Given the description of an element on the screen output the (x, y) to click on. 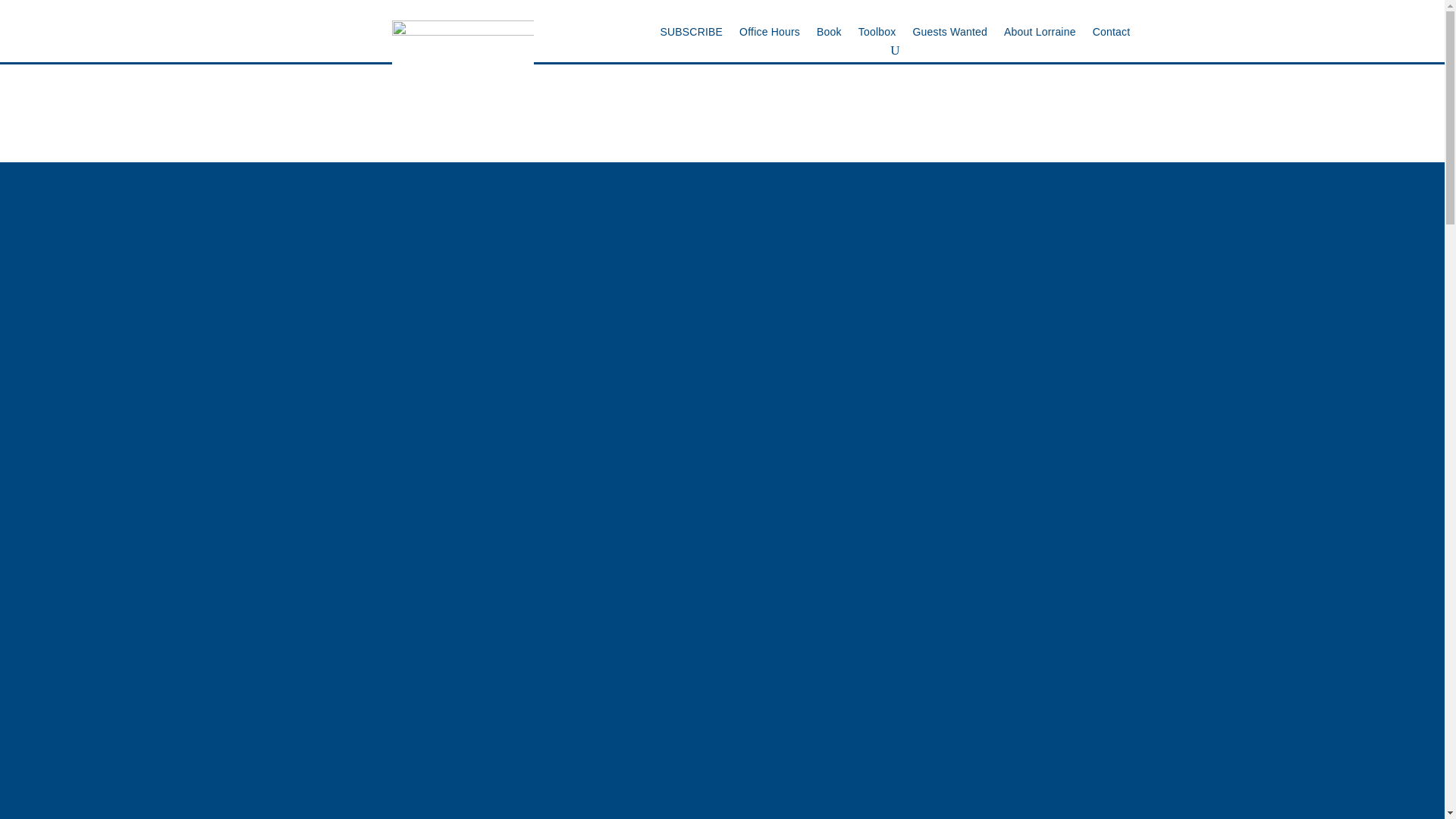
MTFW web logo (462, 91)
Book (828, 34)
Contact (1112, 34)
Guests Wanted (949, 34)
About Lorraine (1039, 34)
SUBSCRIBE (690, 34)
Office Hours (769, 34)
Toolbox (877, 34)
